Given the description of an element on the screen output the (x, y) to click on. 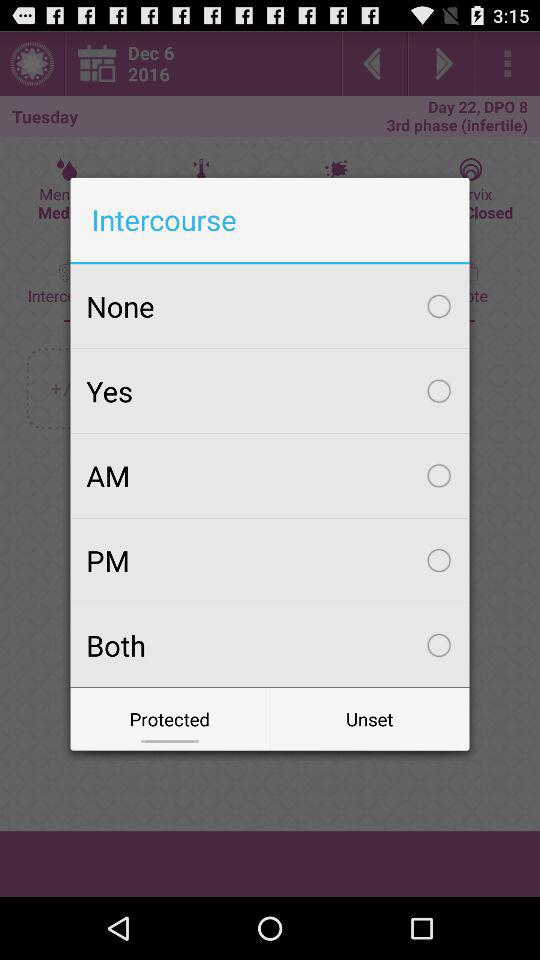
swipe until yes icon (269, 391)
